Given the description of an element on the screen output the (x, y) to click on. 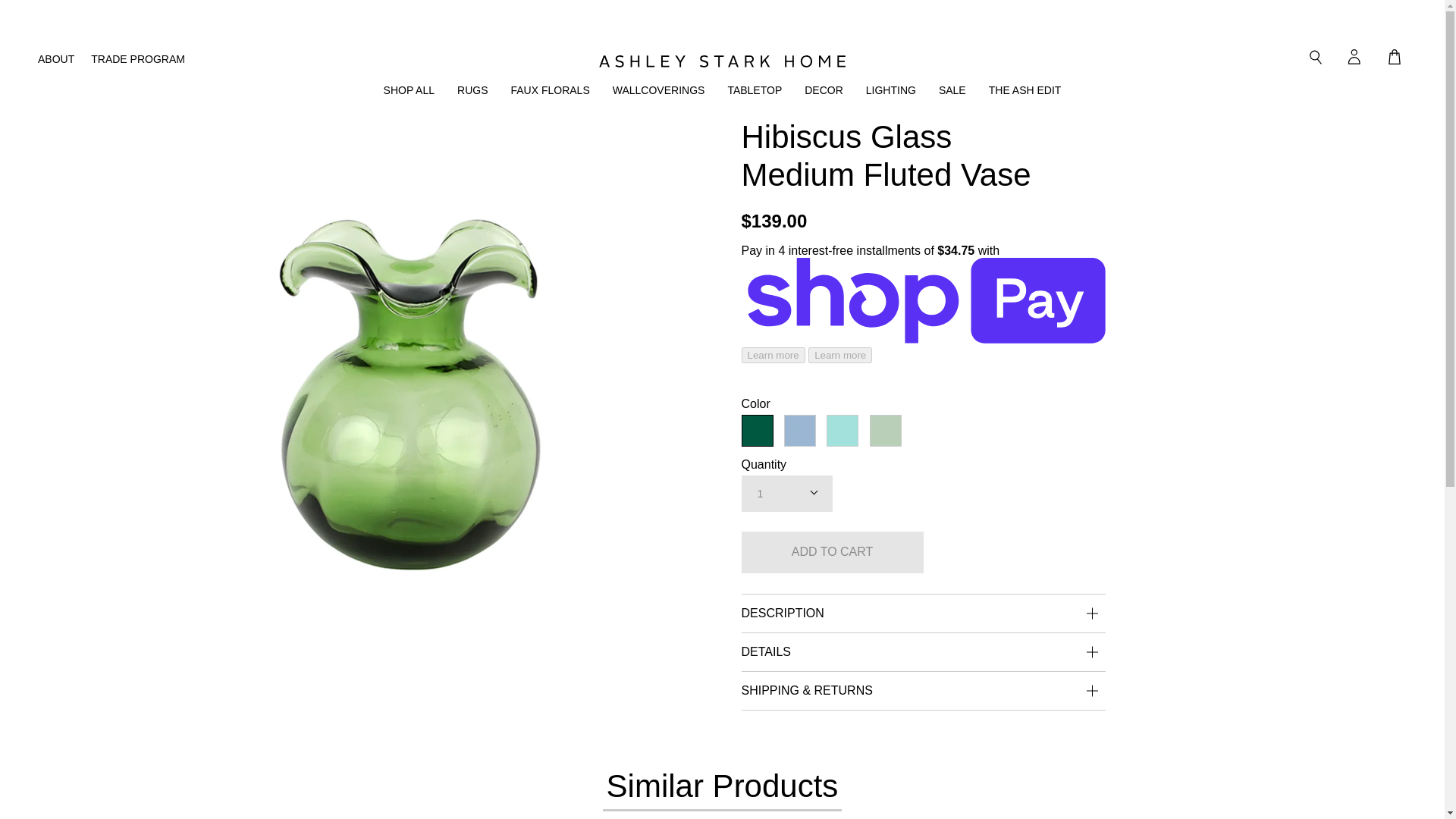
SHOP ALL (408, 89)
RUGS (472, 89)
TRADE PROGRAM (129, 56)
Search (1315, 56)
My Account (1354, 56)
Search (1315, 56)
Cart (1393, 56)
My Account (1354, 56)
ABOUT (55, 56)
